Given the description of an element on the screen output the (x, y) to click on. 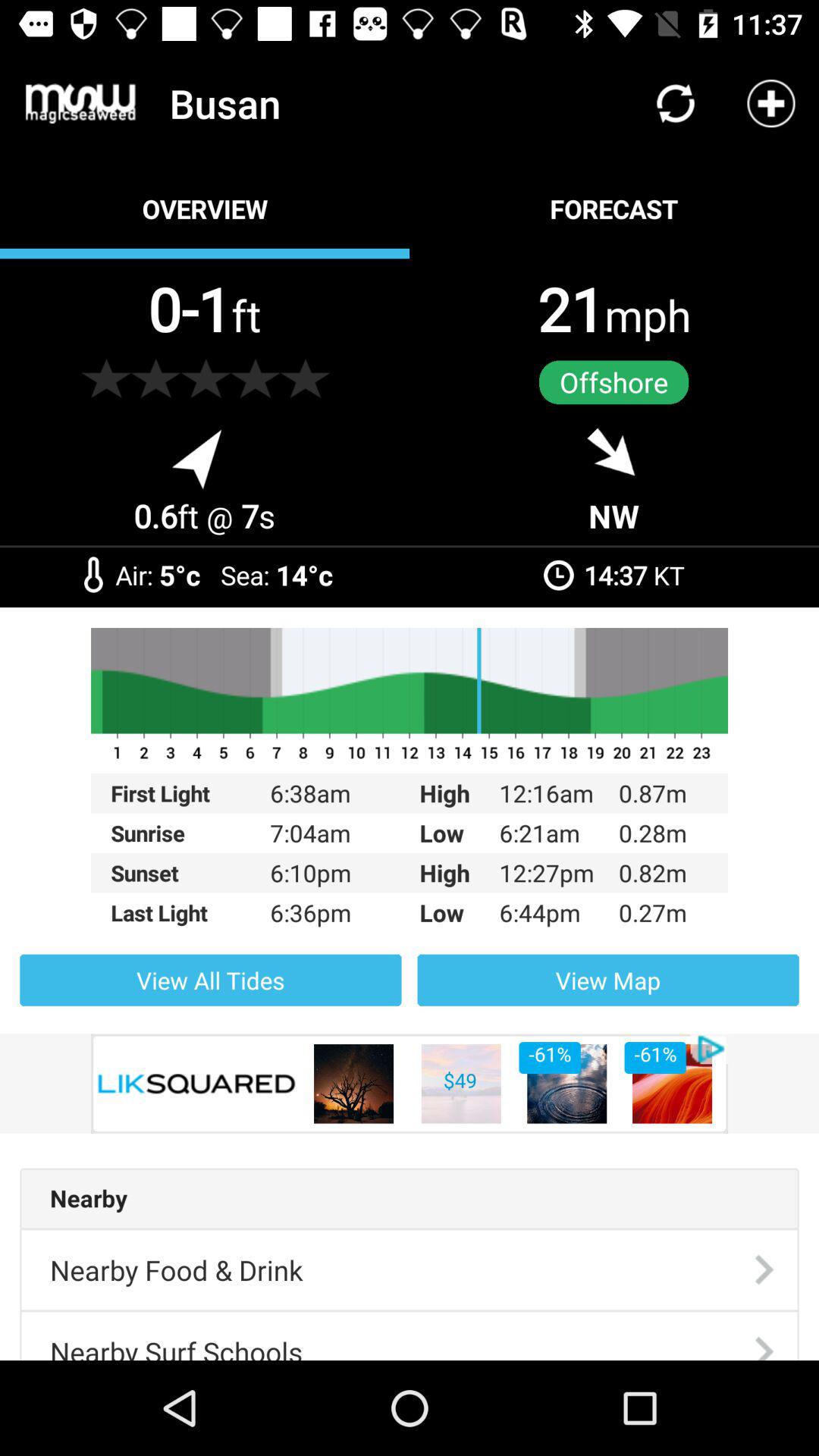
flip to 7:04am item (324, 833)
